Given the description of an element on the screen output the (x, y) to click on. 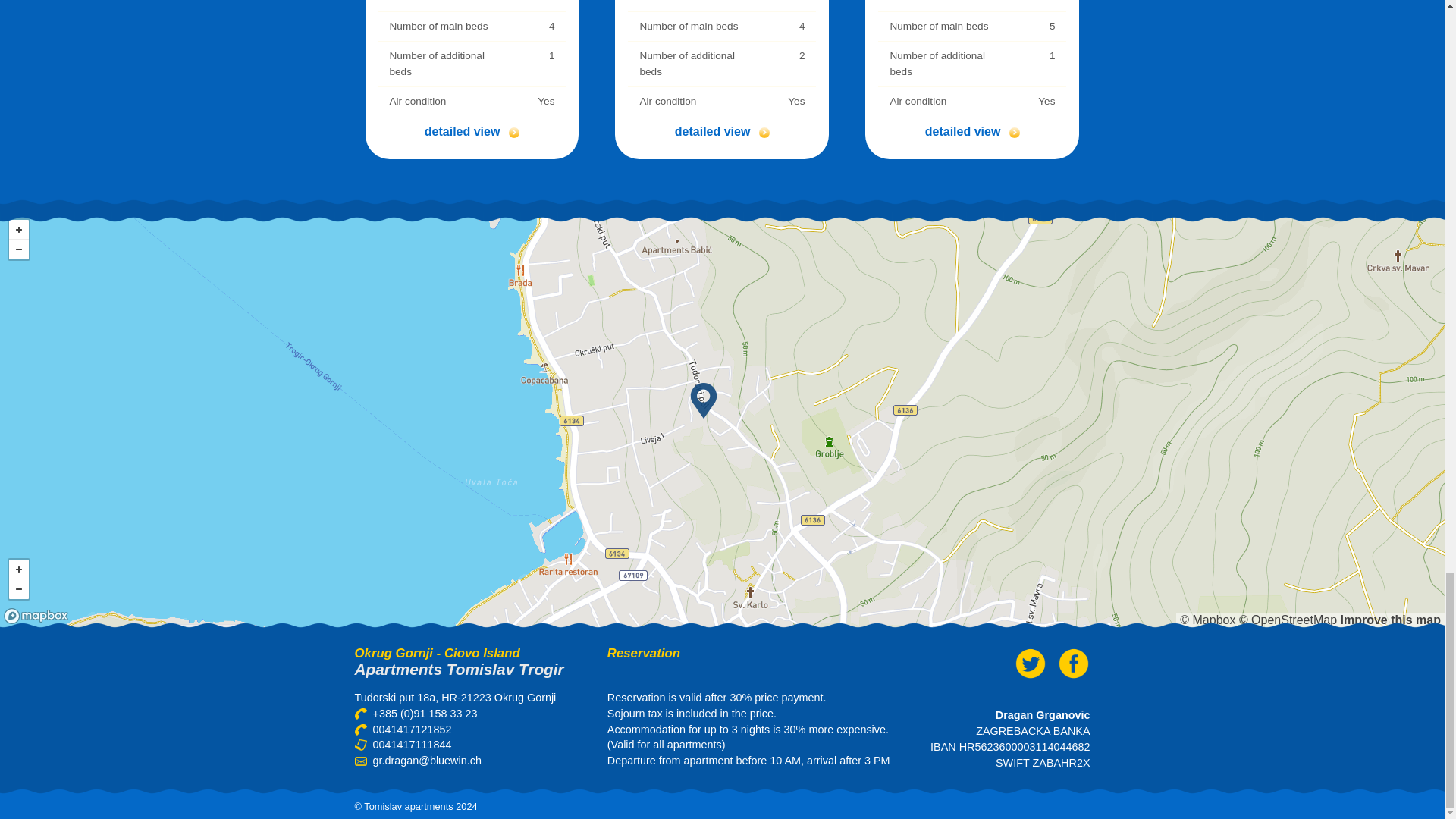
OpenStreetMap (1287, 619)
Zoom out (18, 249)
Zoom in (18, 569)
Zoom in (18, 229)
Zoom out (18, 588)
Improve this map (1390, 619)
Mapbox (1206, 619)
